Given the description of an element on the screen output the (x, y) to click on. 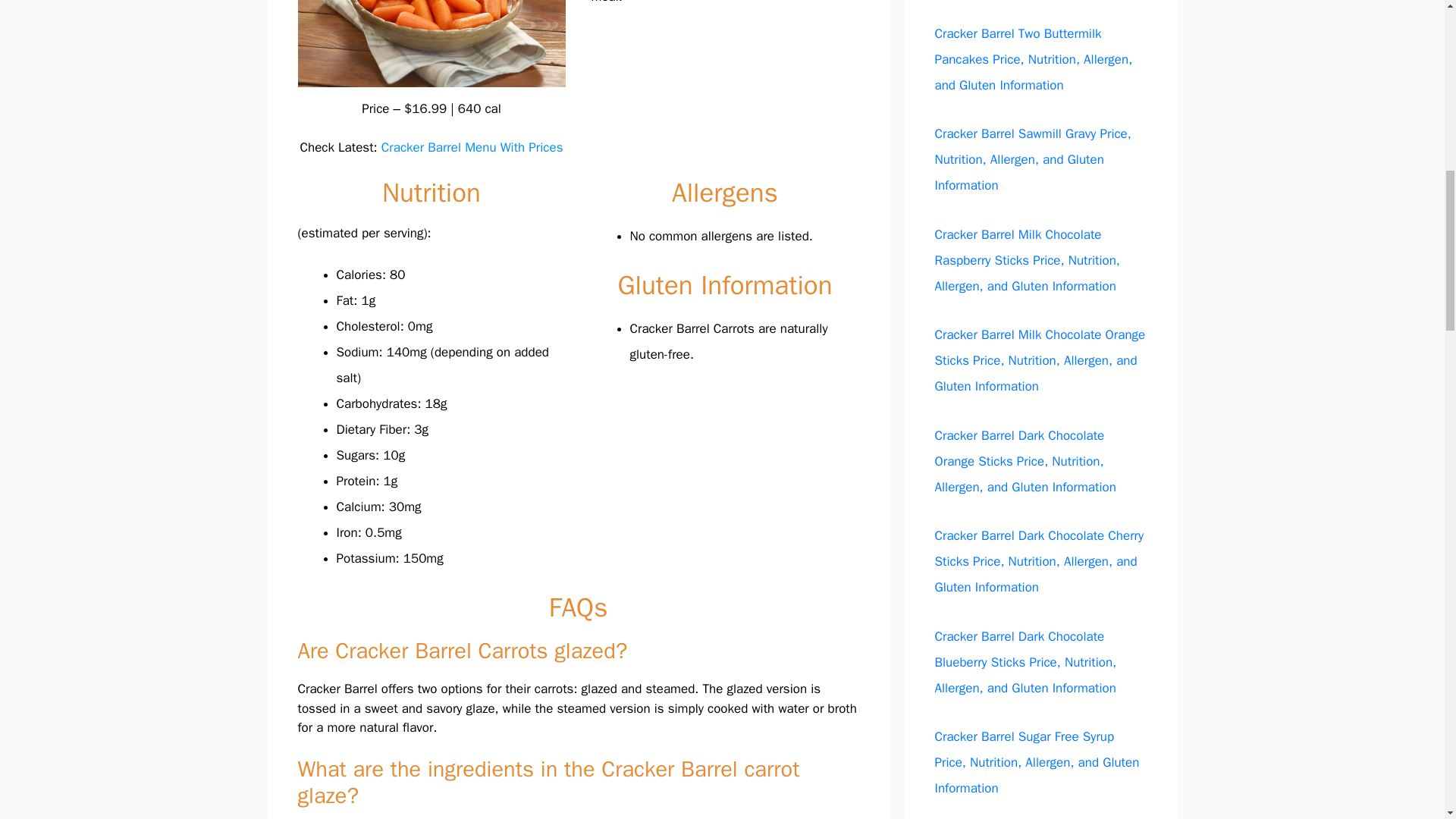
Cracker Barrel Menu With Prices (472, 147)
